Given the description of an element on the screen output the (x, y) to click on. 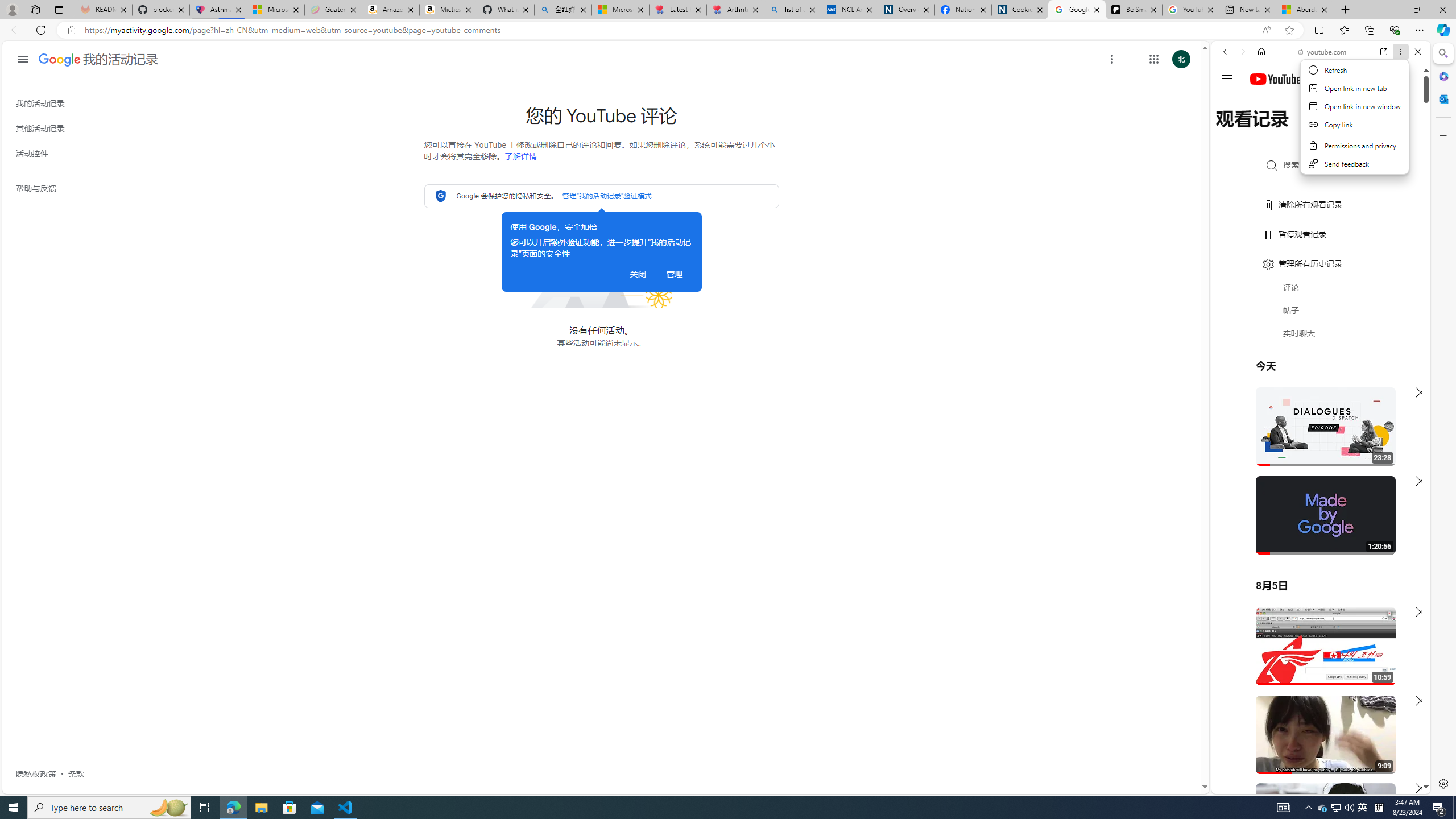
Search videos from youtube.com (1299, 373)
Show More Music (1390, 310)
Permissions and privacy (1354, 145)
Context (1354, 116)
Forward (1242, 51)
Cookies (1019, 9)
SEARCH TOOLS (1350, 130)
Arthritis: Ask Health Professionals (734, 9)
Actions for this site (1371, 661)
